Given the description of an element on the screen output the (x, y) to click on. 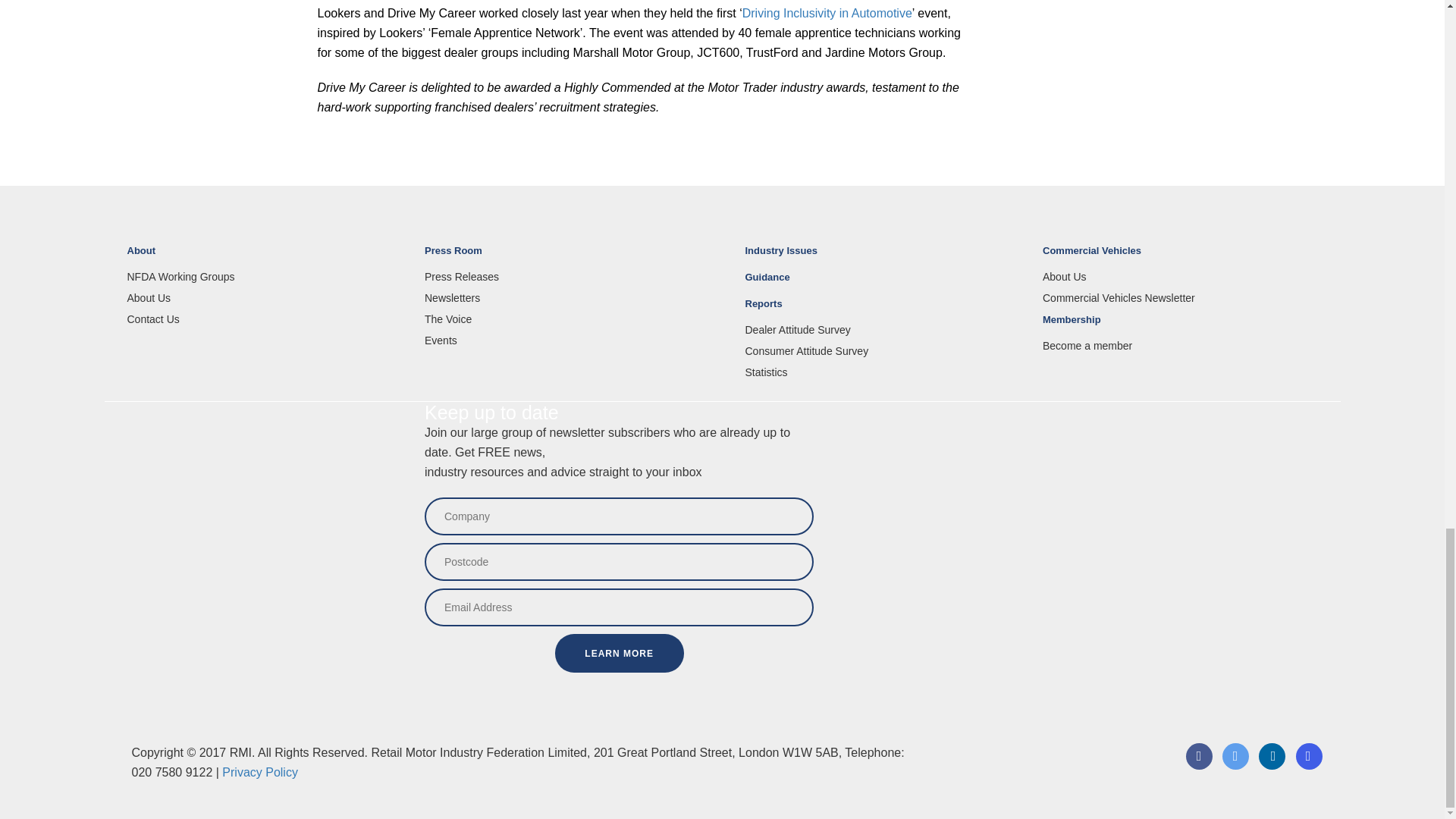
Twitter (1234, 765)
The Voice (562, 318)
Facebook (1198, 765)
Instagram (1308, 765)
About (265, 257)
About Us (265, 297)
Contact Us (265, 318)
Consumer Attitude Survey (882, 350)
Events (562, 340)
Industry Issues (882, 257)
